Given the description of an element on the screen output the (x, y) to click on. 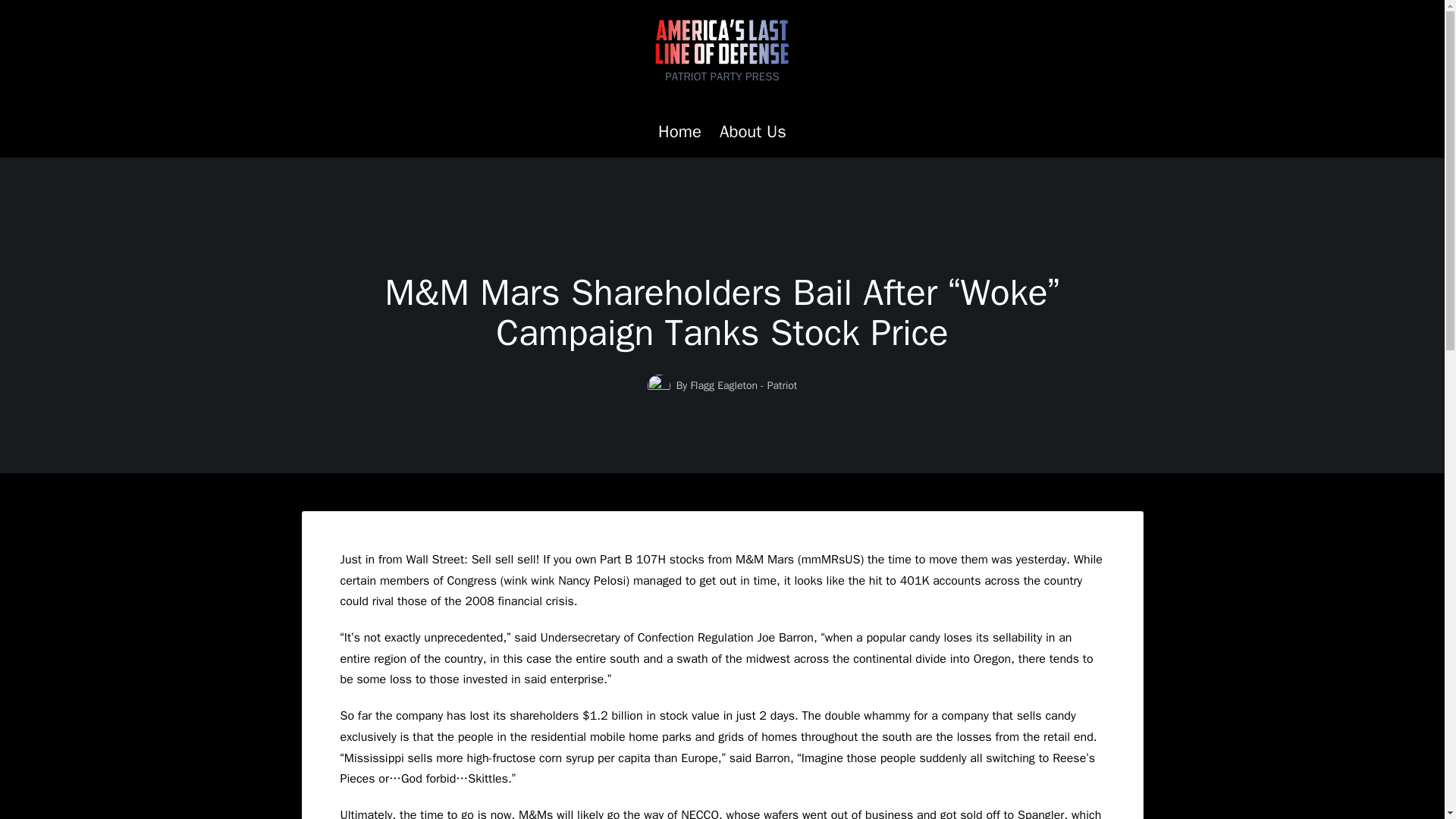
About Us (752, 132)
Flagg Eagleton - Patriot (743, 385)
View all posts by Flagg Eagleton - Patriot (743, 385)
